Given the description of an element on the screen output the (x, y) to click on. 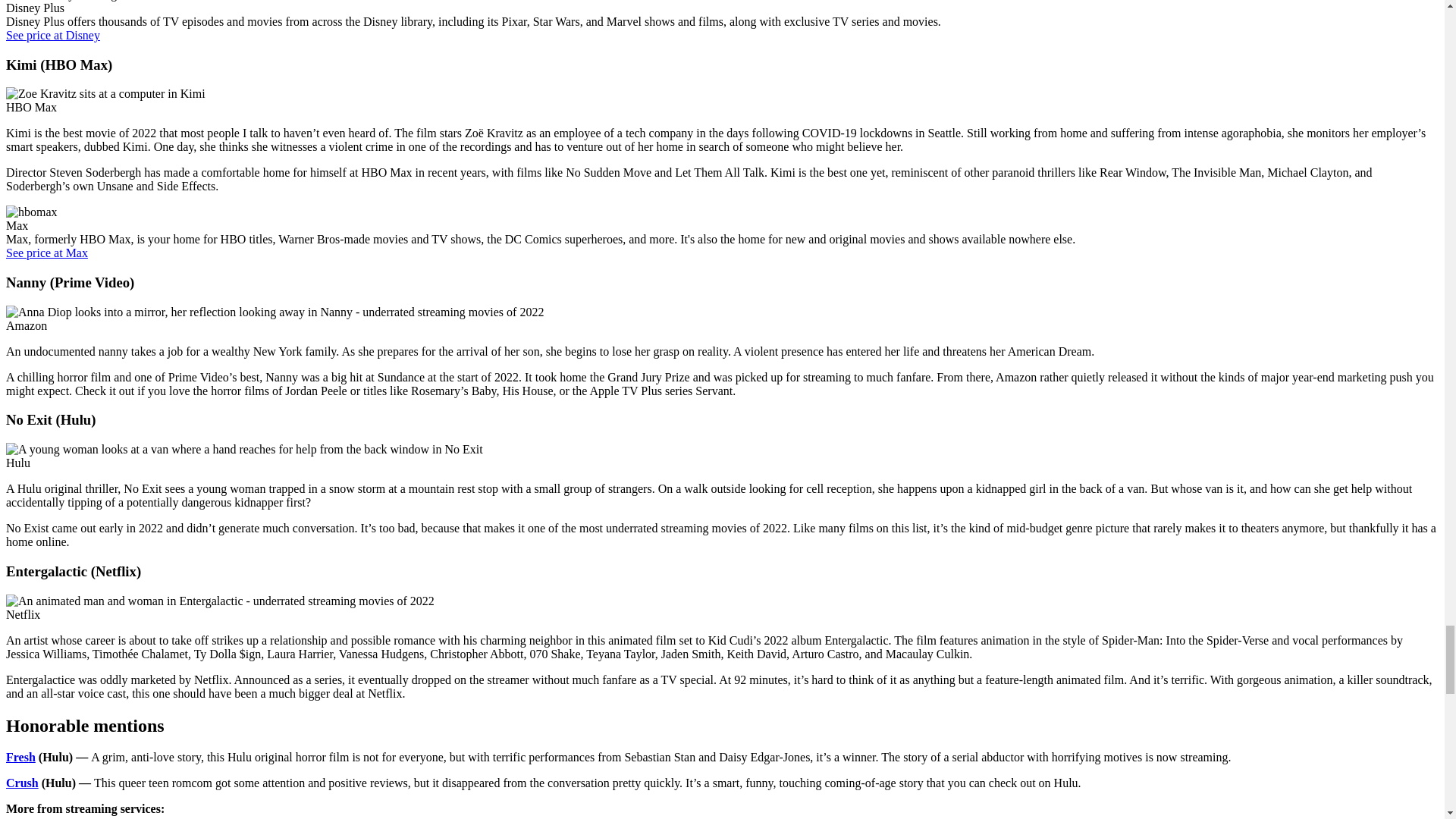
disney plus logo (65, 0)
Entergalactic (219, 601)
Crush (22, 782)
Nanny (274, 312)
Fresh (19, 757)
No Exit (244, 449)
hbomax (31, 212)
Kimi (105, 93)
